Given the description of an element on the screen output the (x, y) to click on. 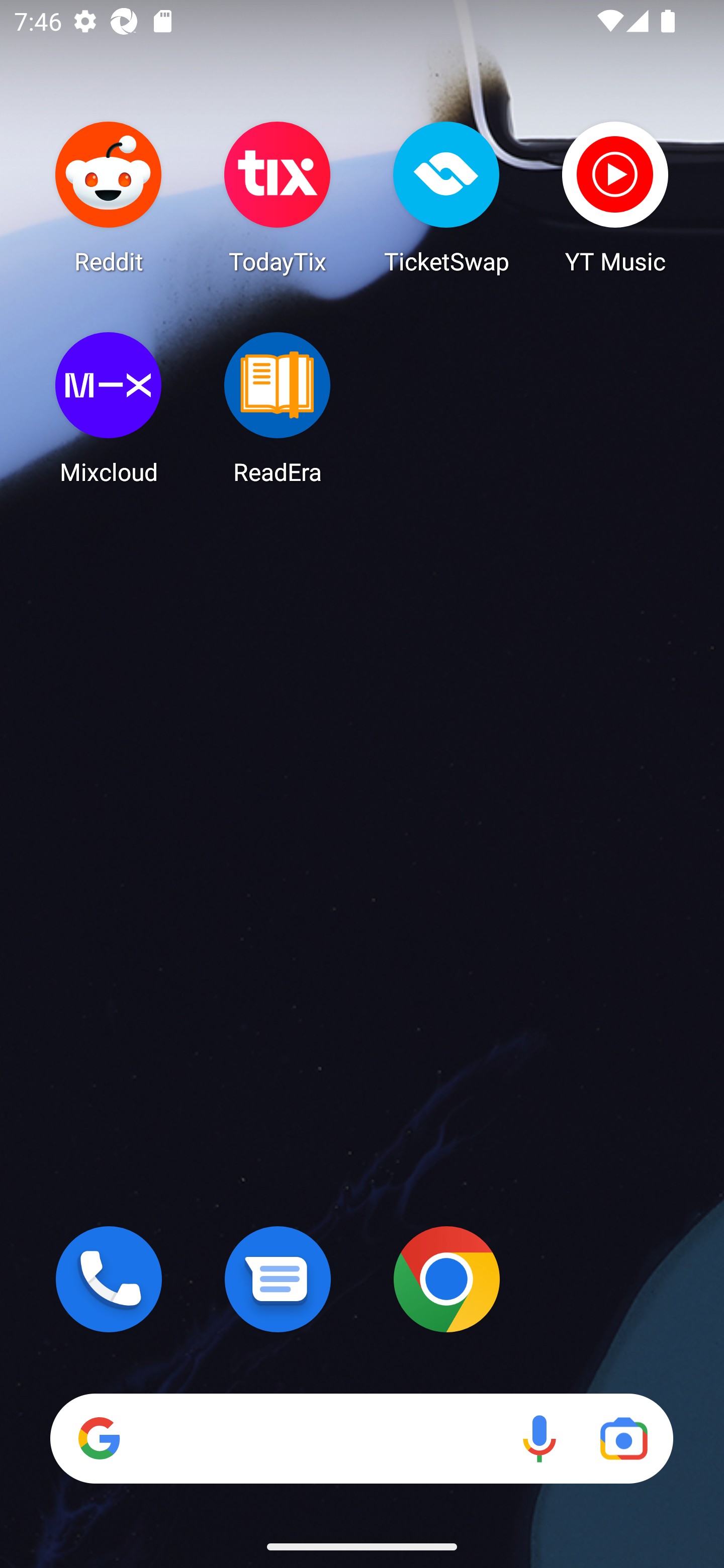
Reddit (108, 196)
TodayTix (277, 196)
TicketSwap (445, 196)
YT Music (615, 196)
Mixcloud (108, 407)
ReadEra (277, 407)
Phone (108, 1279)
Messages (277, 1279)
Chrome (446, 1279)
Voice search (539, 1438)
Google Lens (623, 1438)
